Given the description of an element on the screen output the (x, y) to click on. 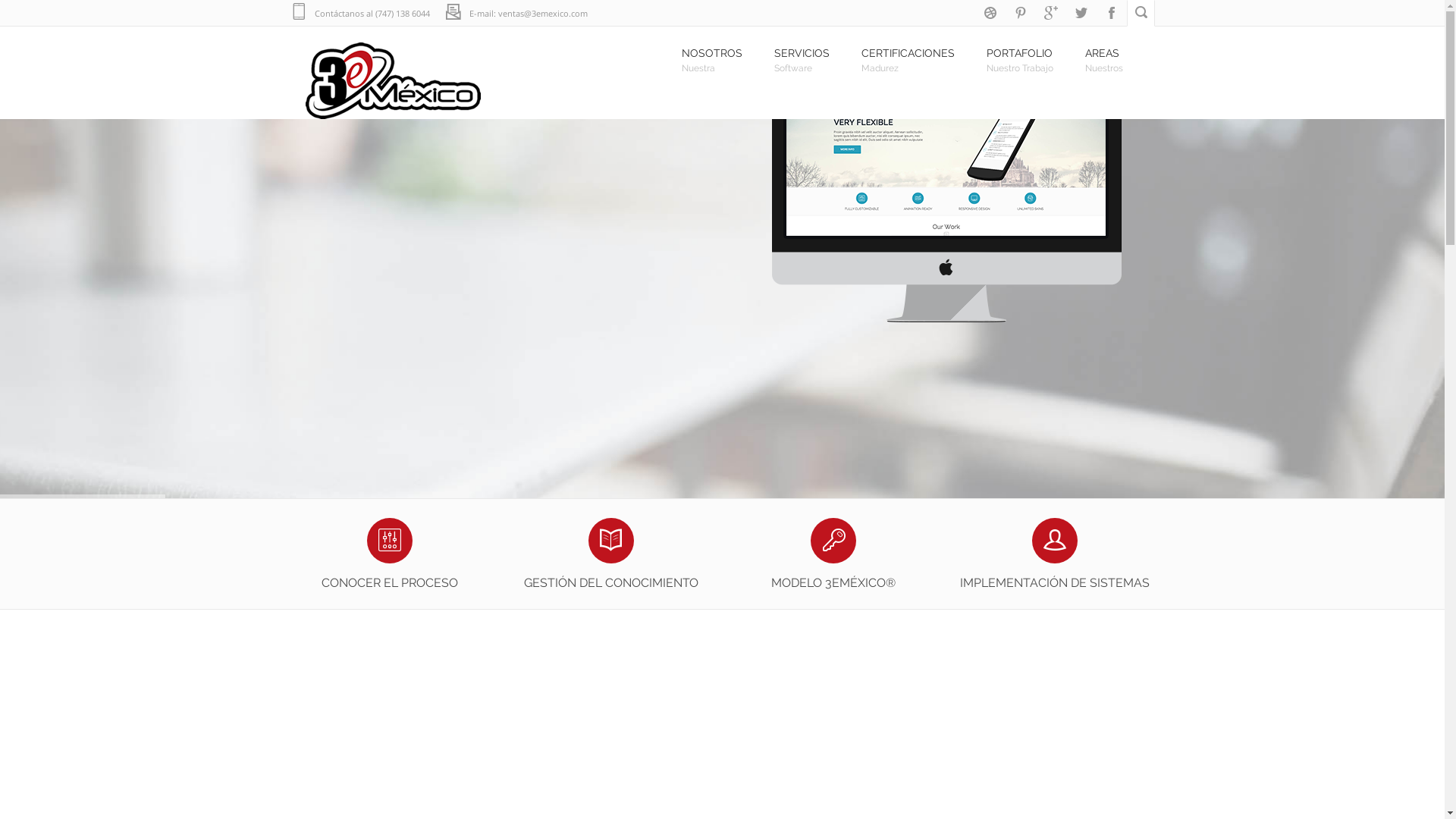
AREAS
Nuestros Element type: text (1107, 56)
PORTAFOLIO
Nuestro Trabajo Element type: text (1023, 56)
facebook Element type: text (1111, 13)
googleplus Element type: text (1050, 13)
pininterest Element type: text (1020, 13)
SERVICIOS
Software Element type: text (805, 56)
dribble Element type: text (990, 13)
twitter Element type: text (1081, 13)
NOSOTROS
Nuestra Element type: text (715, 56)
CERTIFICACIONES
Madurez Element type: text (912, 56)
Search Element type: text (39, 13)
